Given the description of an element on the screen output the (x, y) to click on. 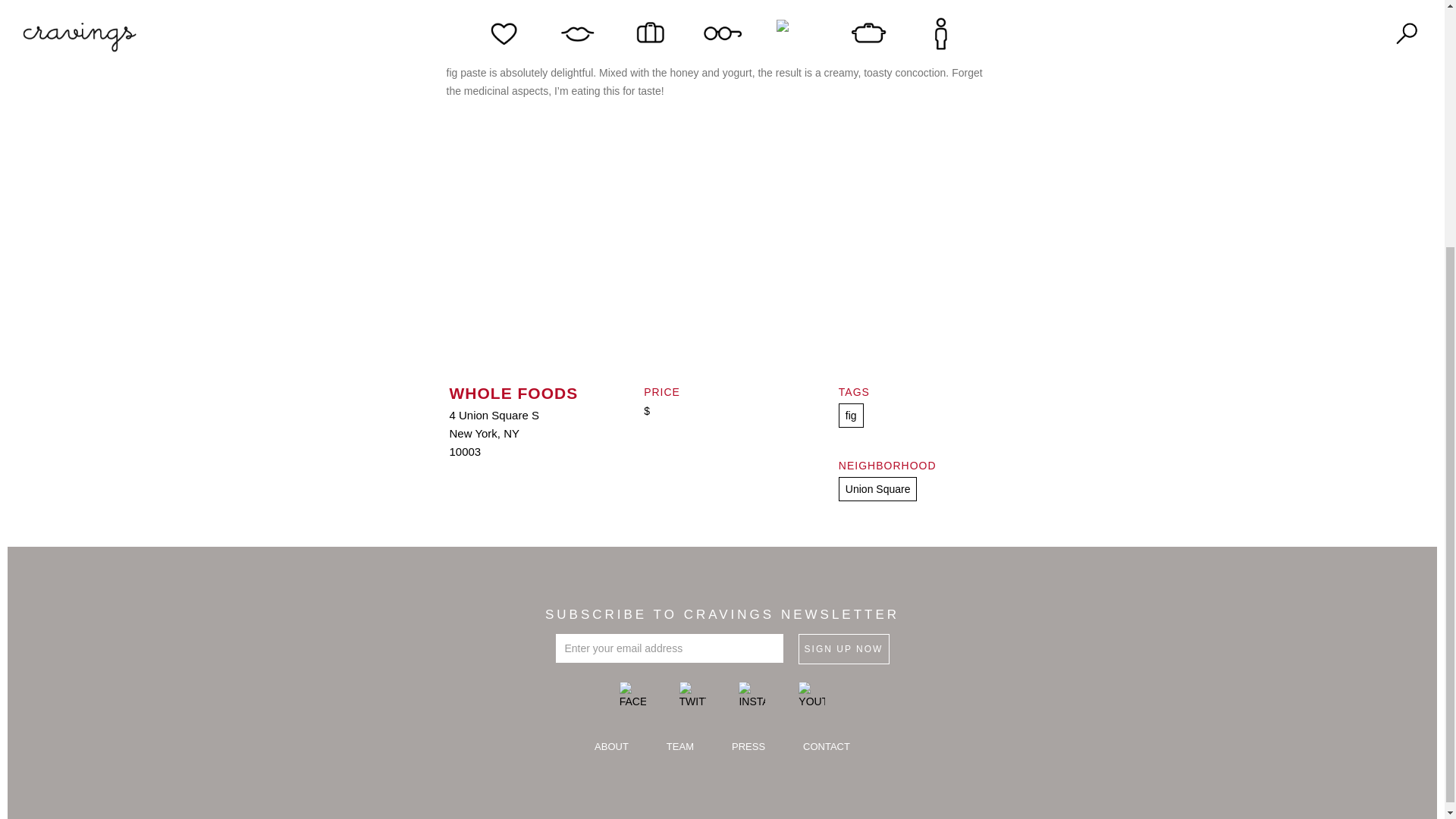
TEAM (679, 747)
CONTACT (826, 747)
PRESS (748, 747)
fig (850, 415)
Union Square (877, 488)
Sign Up Now (842, 648)
ABOUT (611, 747)
Sign Up Now (842, 648)
